Given the description of an element on the screen output the (x, y) to click on. 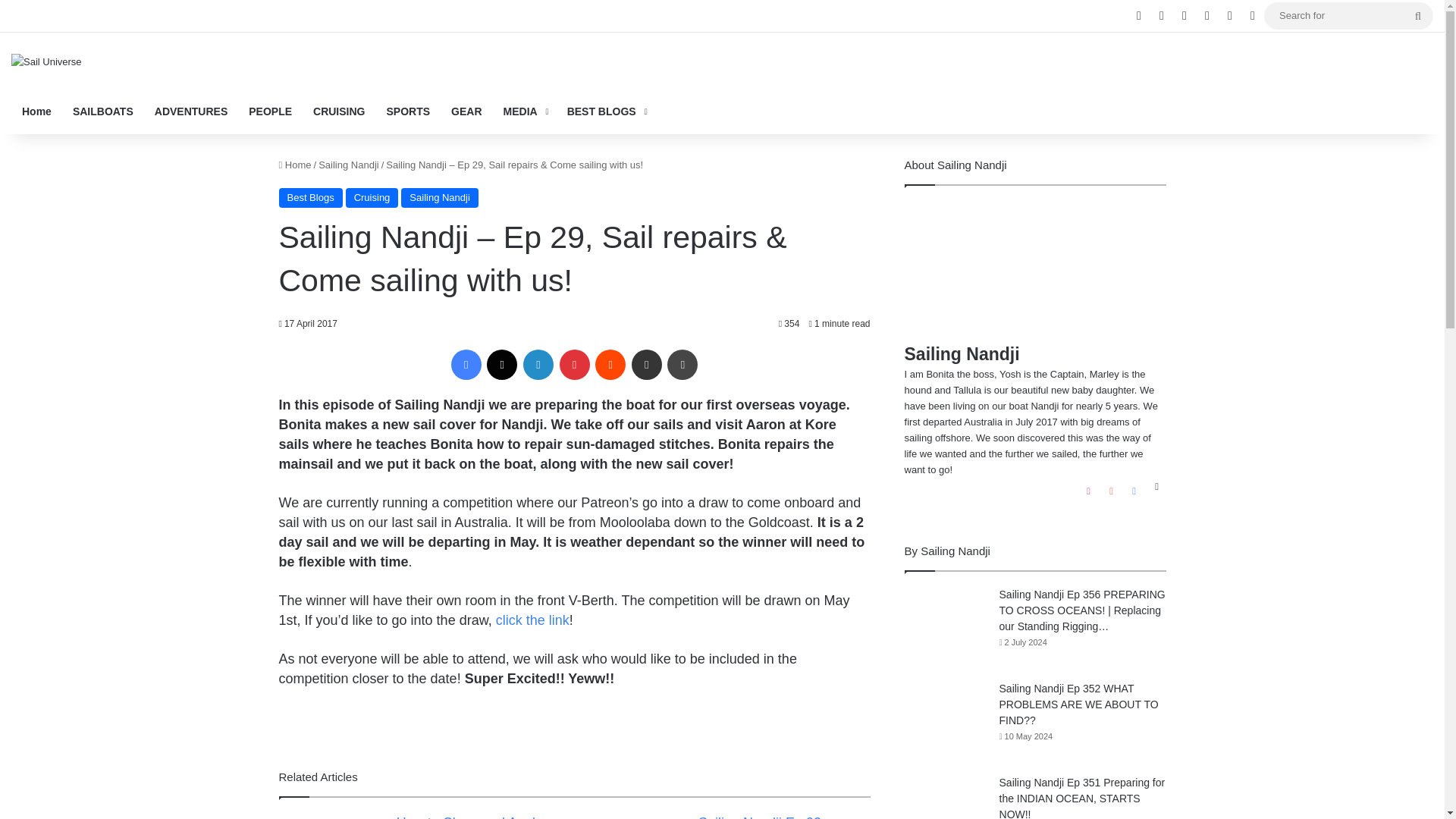
MEDIA (524, 111)
X (501, 364)
Home (295, 164)
PEOPLE (270, 111)
Reddit (610, 364)
BEST BLOGS (605, 111)
SAILBOATS (103, 111)
Sail Universe (46, 61)
Pinterest (574, 364)
Facebook (466, 364)
Sailing Nandji (348, 164)
Search for (1347, 15)
SPORTS (408, 111)
Print (681, 364)
Best Blogs (310, 198)
